Given the description of an element on the screen output the (x, y) to click on. 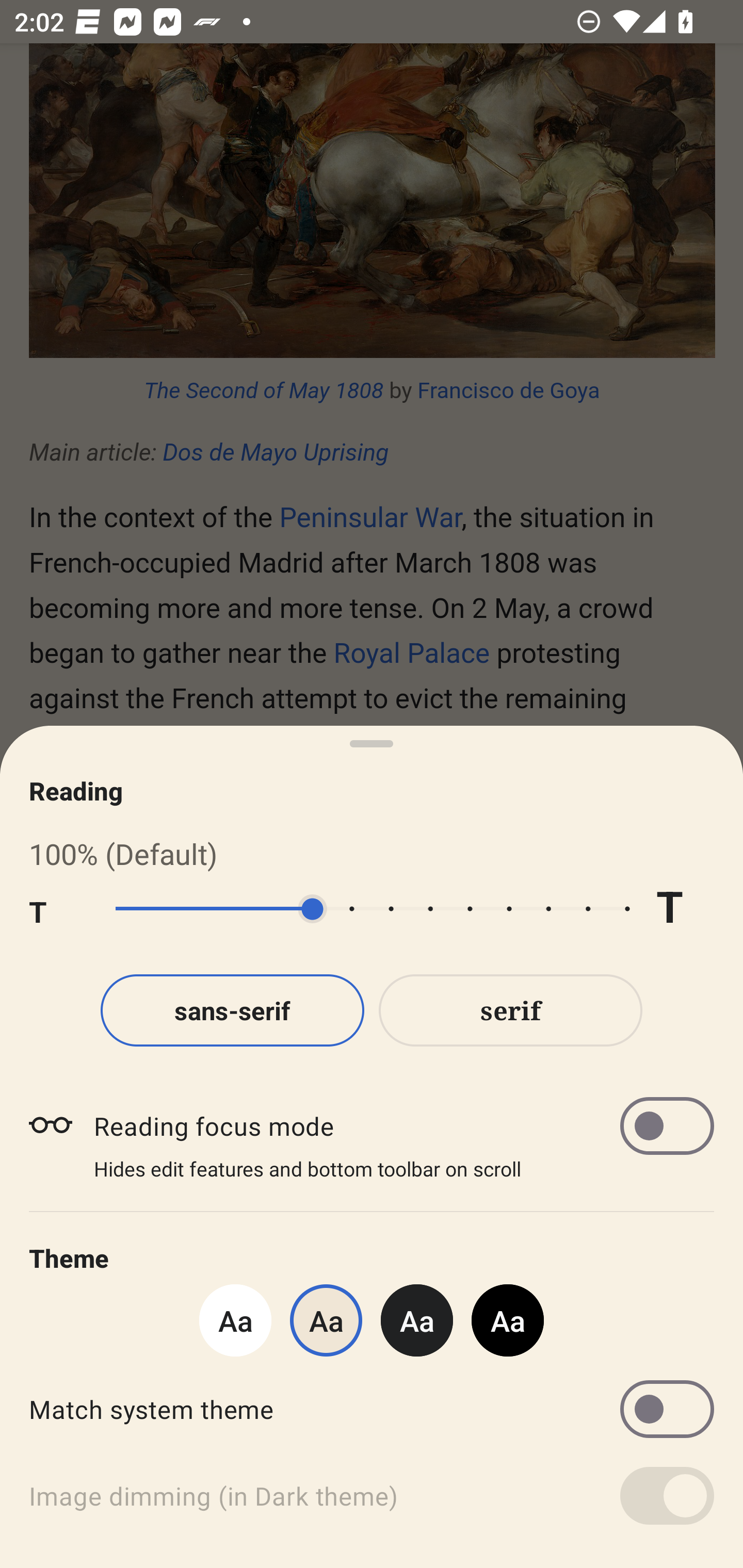
T Decrease text size (57, 909)
T Increase text size (685, 909)
sans-serif (232, 1010)
serif (510, 1010)
Reading focus mode (403, 1125)
Aa (235, 1320)
Aa (416, 1320)
Aa (507, 1320)
Match system theme (371, 1408)
Image dimming (in Dark theme) (371, 1495)
